Given the description of an element on the screen output the (x, y) to click on. 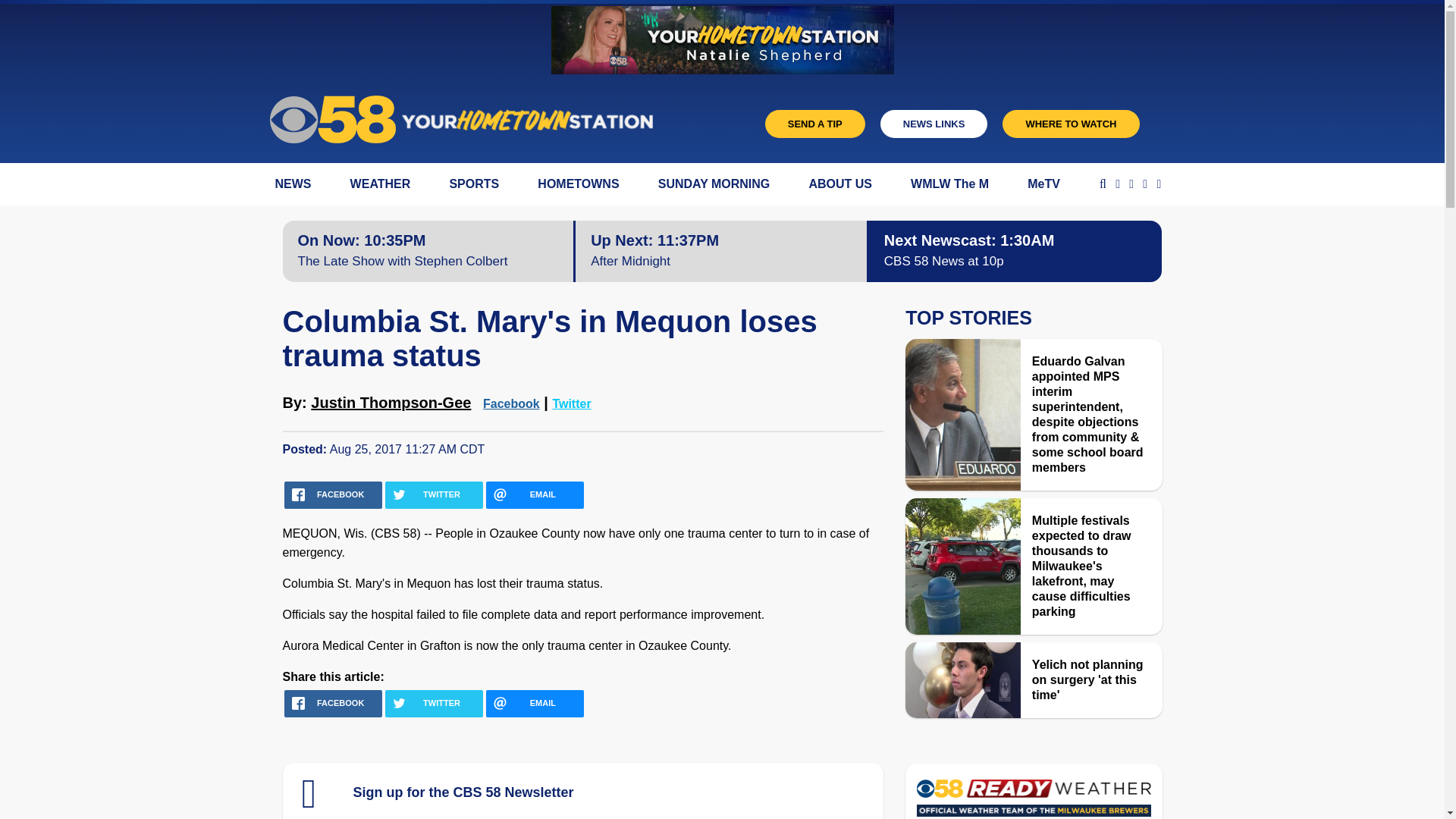
Weather (1033, 803)
